Given the description of an element on the screen output the (x, y) to click on. 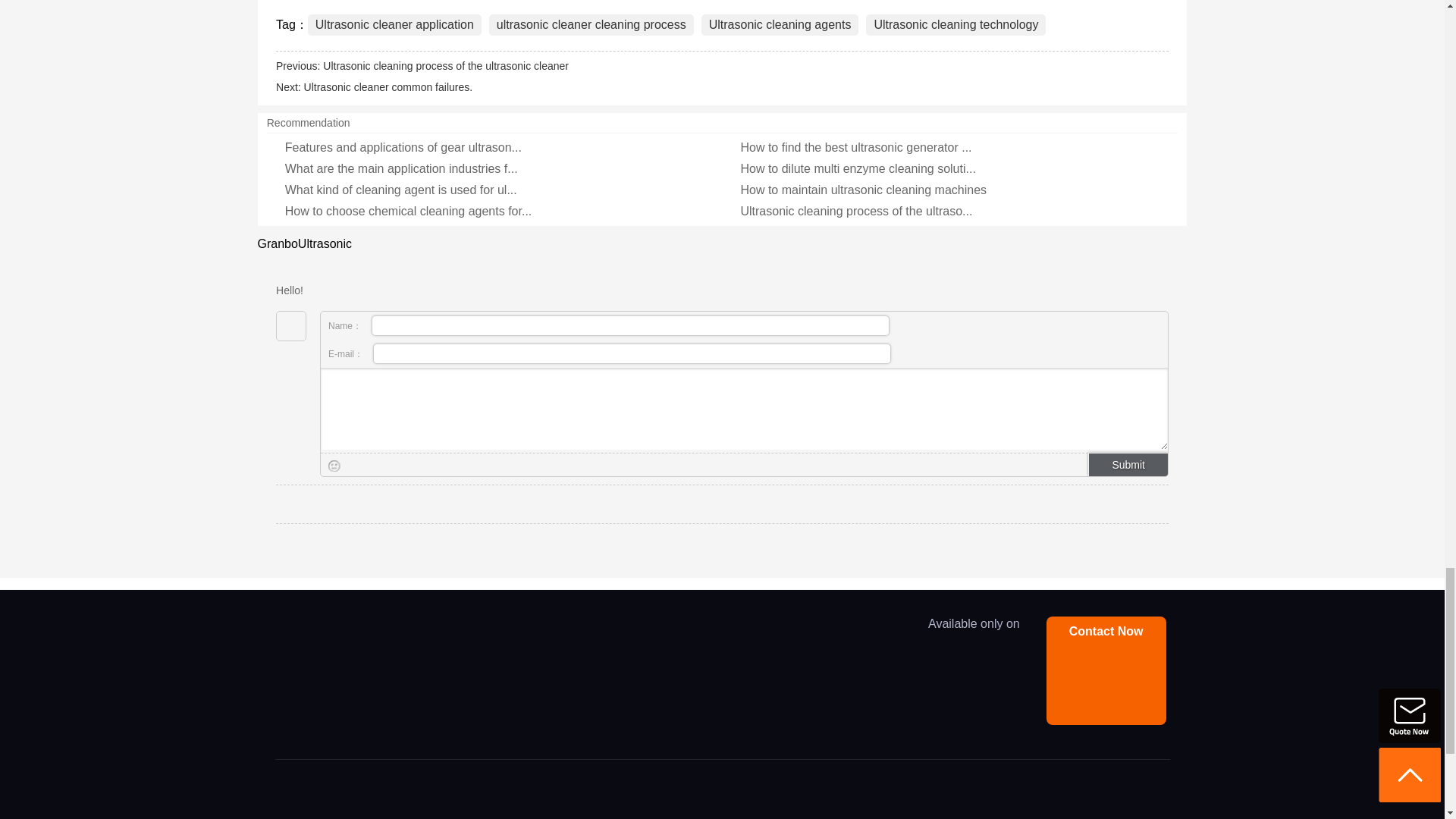
Ultrasonic cleaning agents (780, 25)
How to find the best ultrasonic generator manufacturer (855, 146)
Ultrasonic cleaner common failures. (388, 87)
What kind of cleaning agent is used for ultrasonic cleaner (400, 189)
Ultrasonic cleaner application (394, 25)
Submit (1127, 463)
How to maintain ultrasonic cleaning machines (863, 189)
Ultrasonic cleaning process of the ultrasonic cleaner (855, 210)
ultrasonic cleaner cleaning process (591, 25)
Ultrasonic cleaning process of the ultrasonic cleaner (446, 65)
Emoji (334, 465)
Ultrasonic cleaning technology (955, 25)
